Given the description of an element on the screen output the (x, y) to click on. 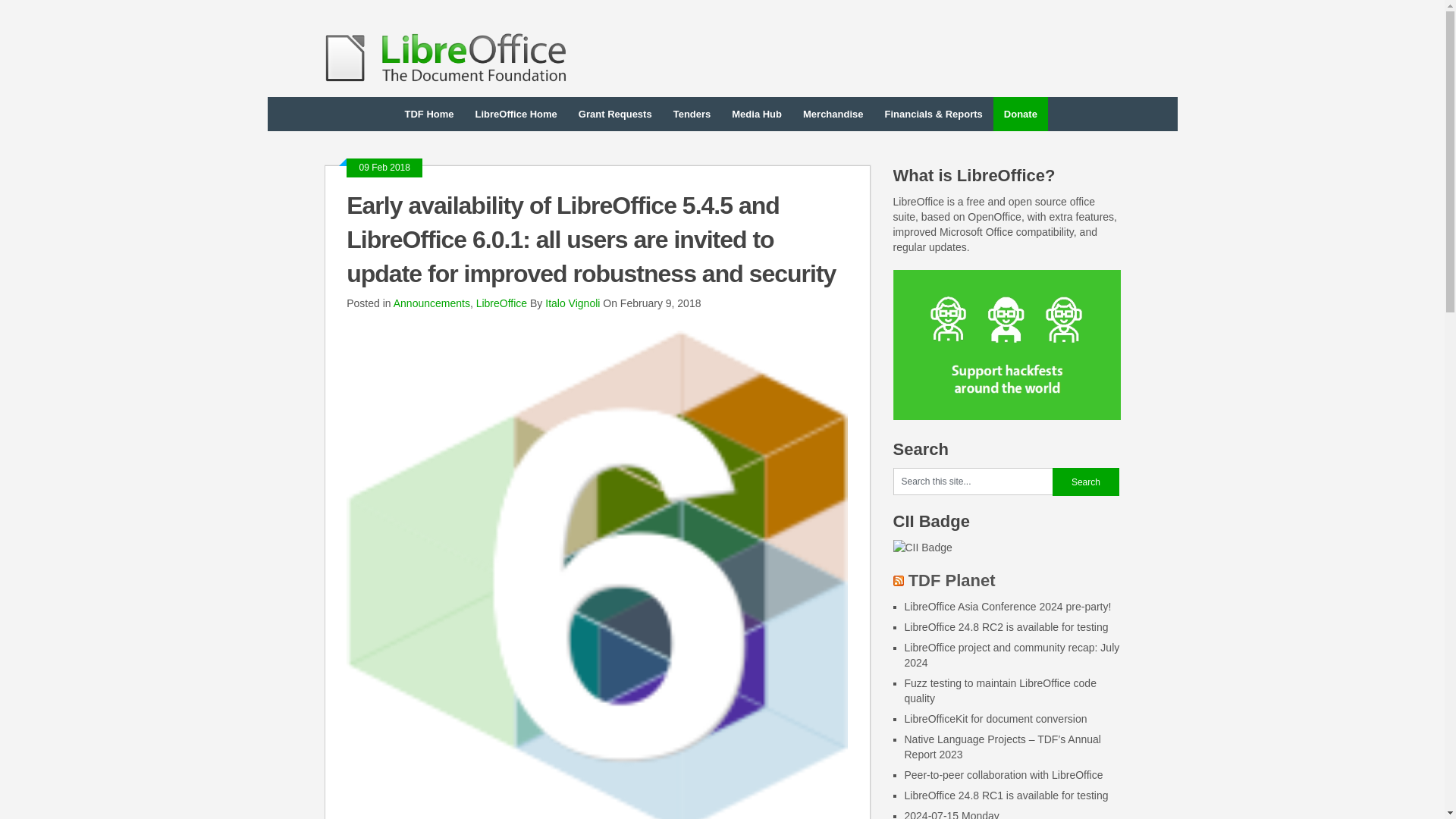
Merchandise (832, 114)
Italo Vignoli (571, 303)
Search (1085, 481)
Announcements (431, 303)
LibreOffice 24.8 RC1 is available for testing (1006, 795)
Peer-to-peer collaboration with LibreOffice (1003, 775)
Media Hub (756, 114)
Tenders (692, 114)
Grant Requests (614, 114)
TDF Home (429, 114)
TDF Planet (951, 579)
Donate (1020, 114)
LibreOfficeKit for document conversion (995, 718)
Fuzz testing to maintain LibreOffice code quality (1000, 690)
Search (1085, 481)
